Given the description of an element on the screen output the (x, y) to click on. 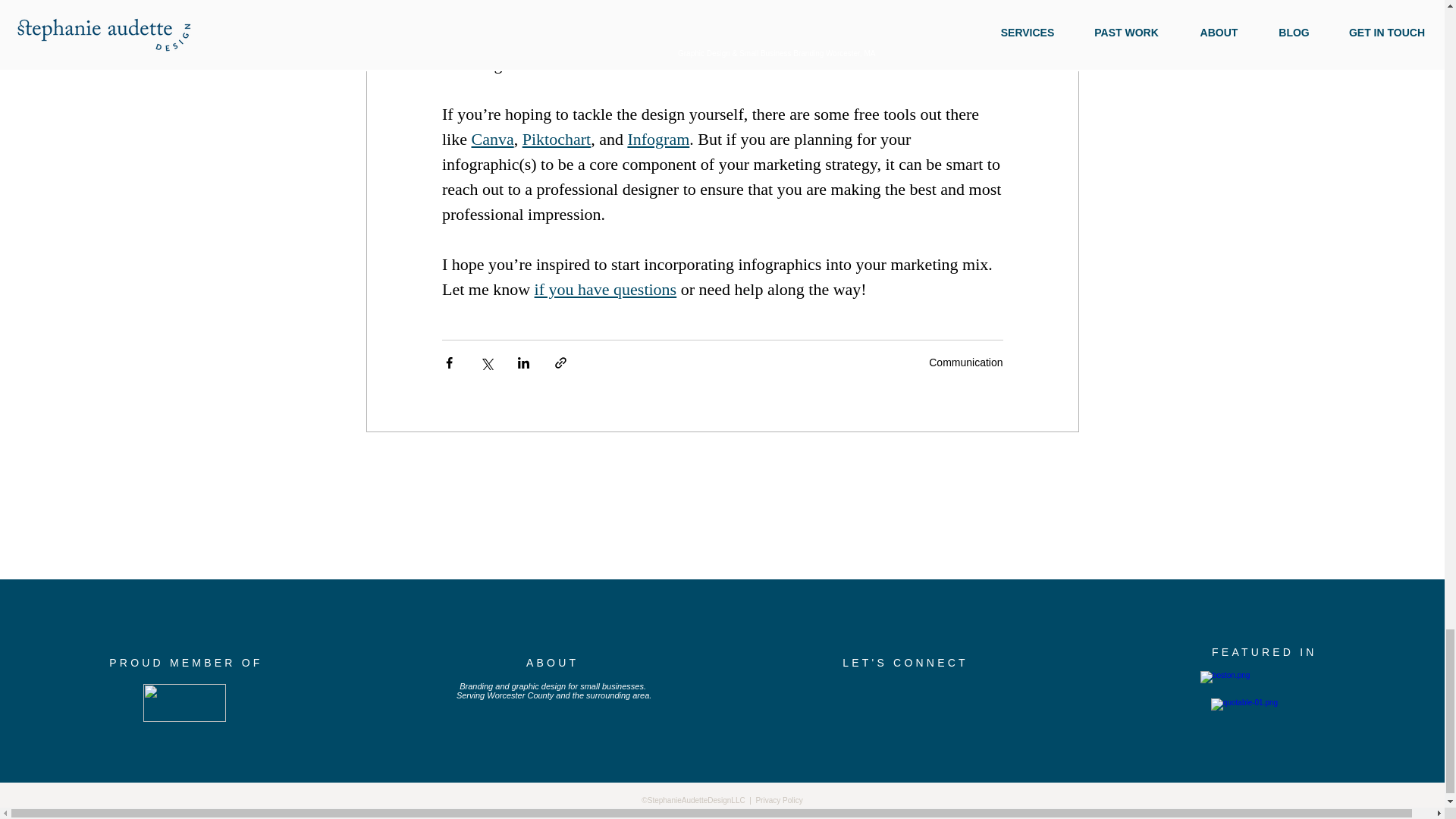
Piktochart (555, 138)
Infogram (657, 138)
Communication (965, 362)
if you have questions (605, 289)
Canva (491, 138)
